Given the description of an element on the screen output the (x, y) to click on. 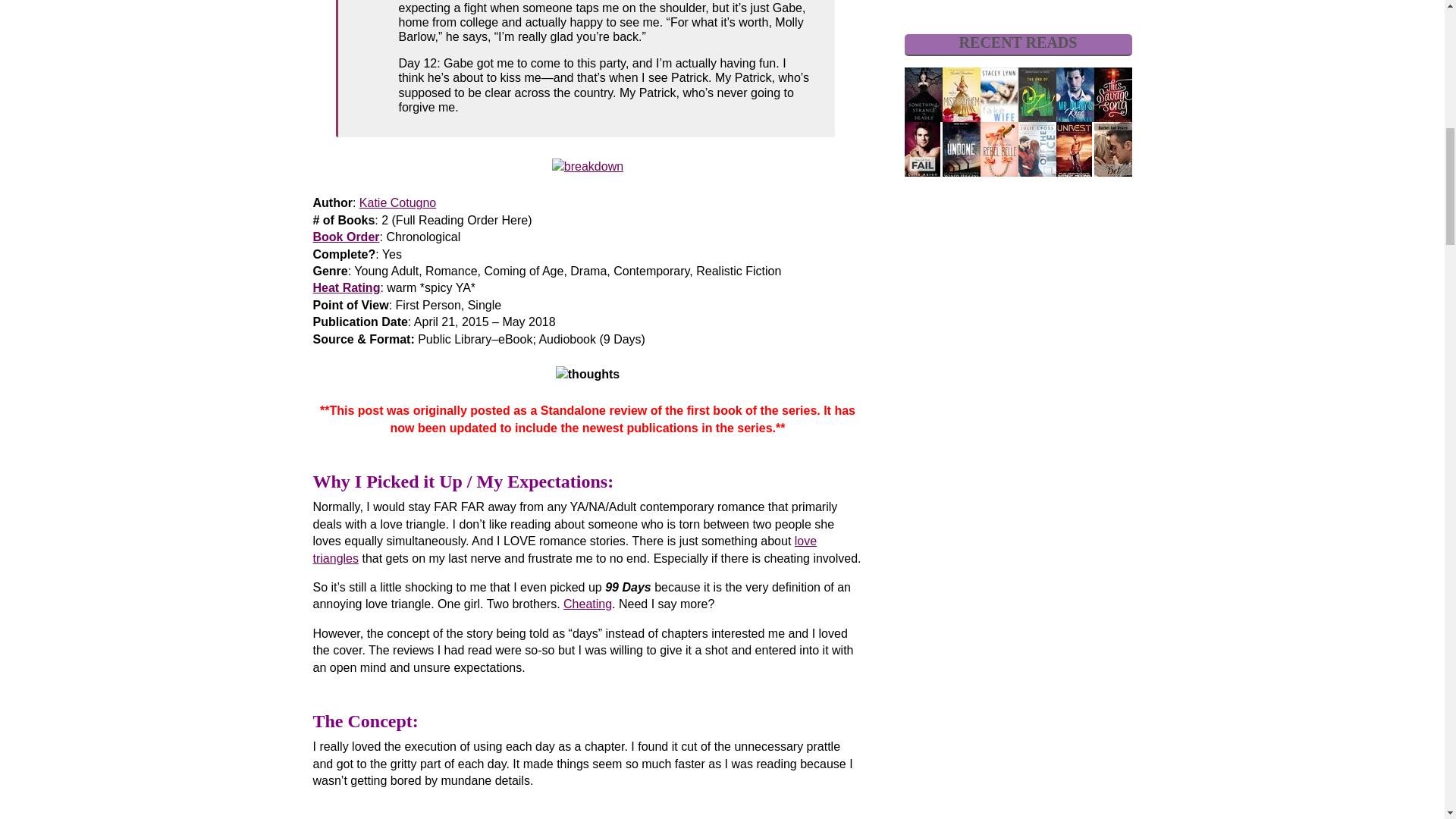
What does this mean? (345, 236)
What does this all mean? Click here! (587, 165)
Book Order (345, 236)
Heat Rating (346, 287)
love triangles (564, 549)
Cheating (587, 603)
Read more reviews of their work (397, 202)
Katie Cotugno (397, 202)
What does this mean? (346, 287)
